Given the description of an element on the screen output the (x, y) to click on. 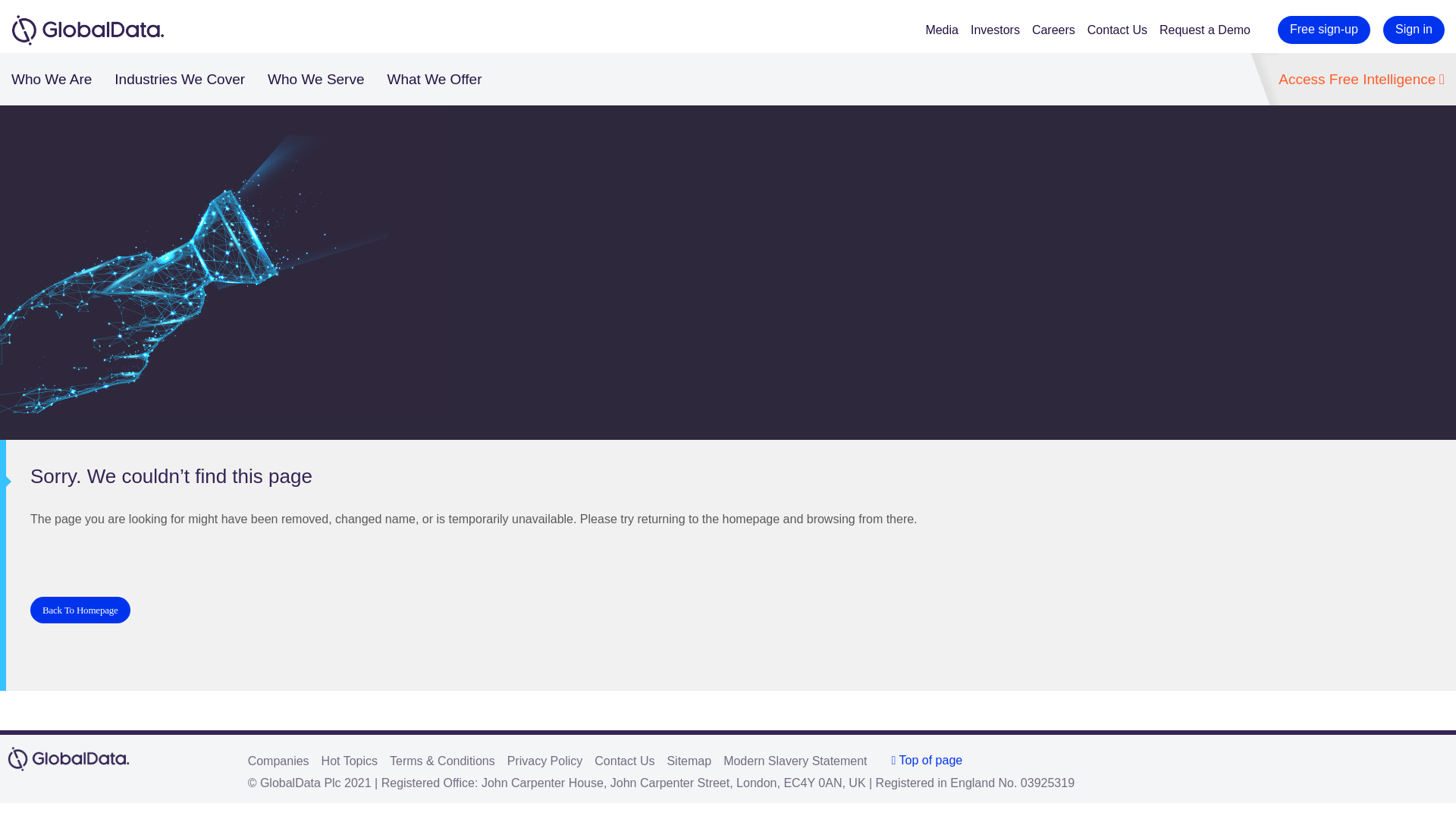
Careers (1059, 30)
Investors (1001, 30)
Who We Are (51, 79)
Media (947, 30)
Contact Us (1122, 30)
Industries We Cover (179, 79)
Free sign-up (1324, 29)
Request a Demo (1210, 30)
Sign in (1413, 29)
